Given the description of an element on the screen output the (x, y) to click on. 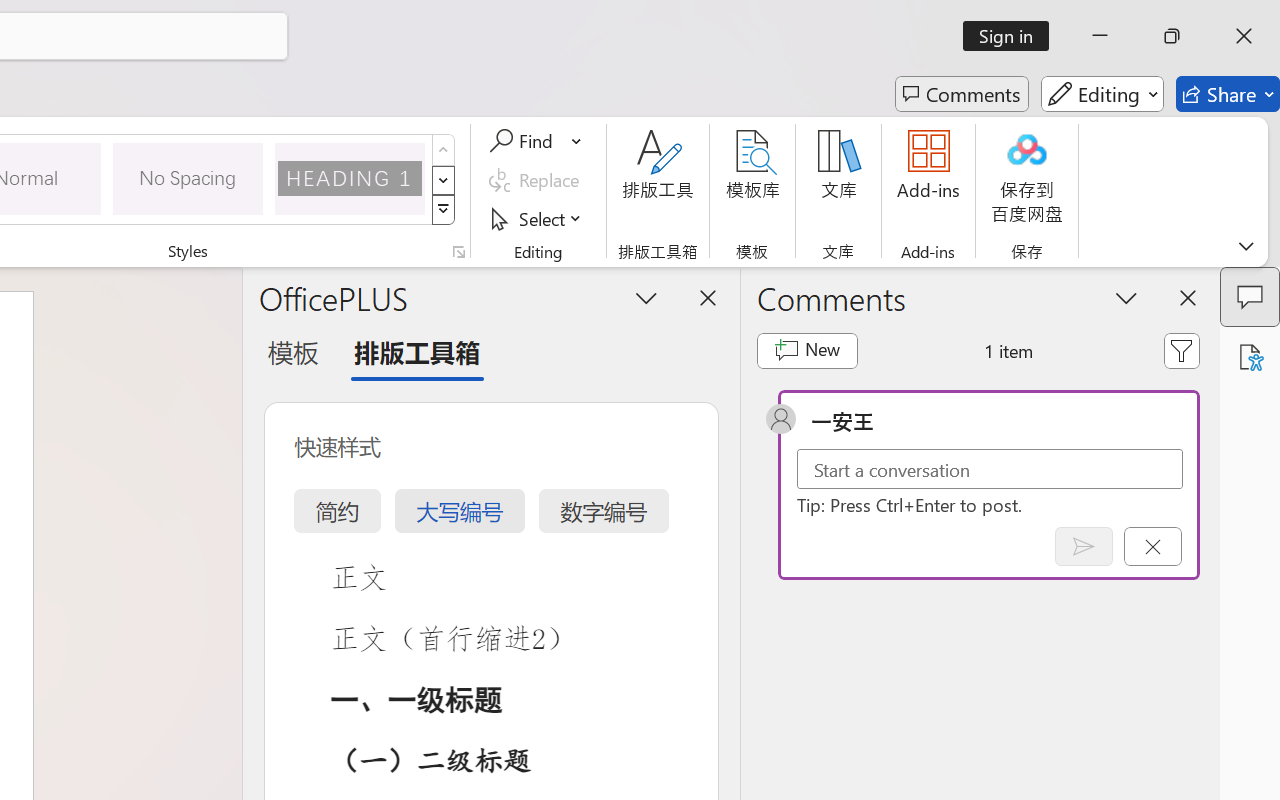
Post comment (Ctrl + Enter) (1083, 546)
Filter (1181, 350)
Editing (1101, 94)
New comment (806, 350)
